Given the description of an element on the screen output the (x, y) to click on. 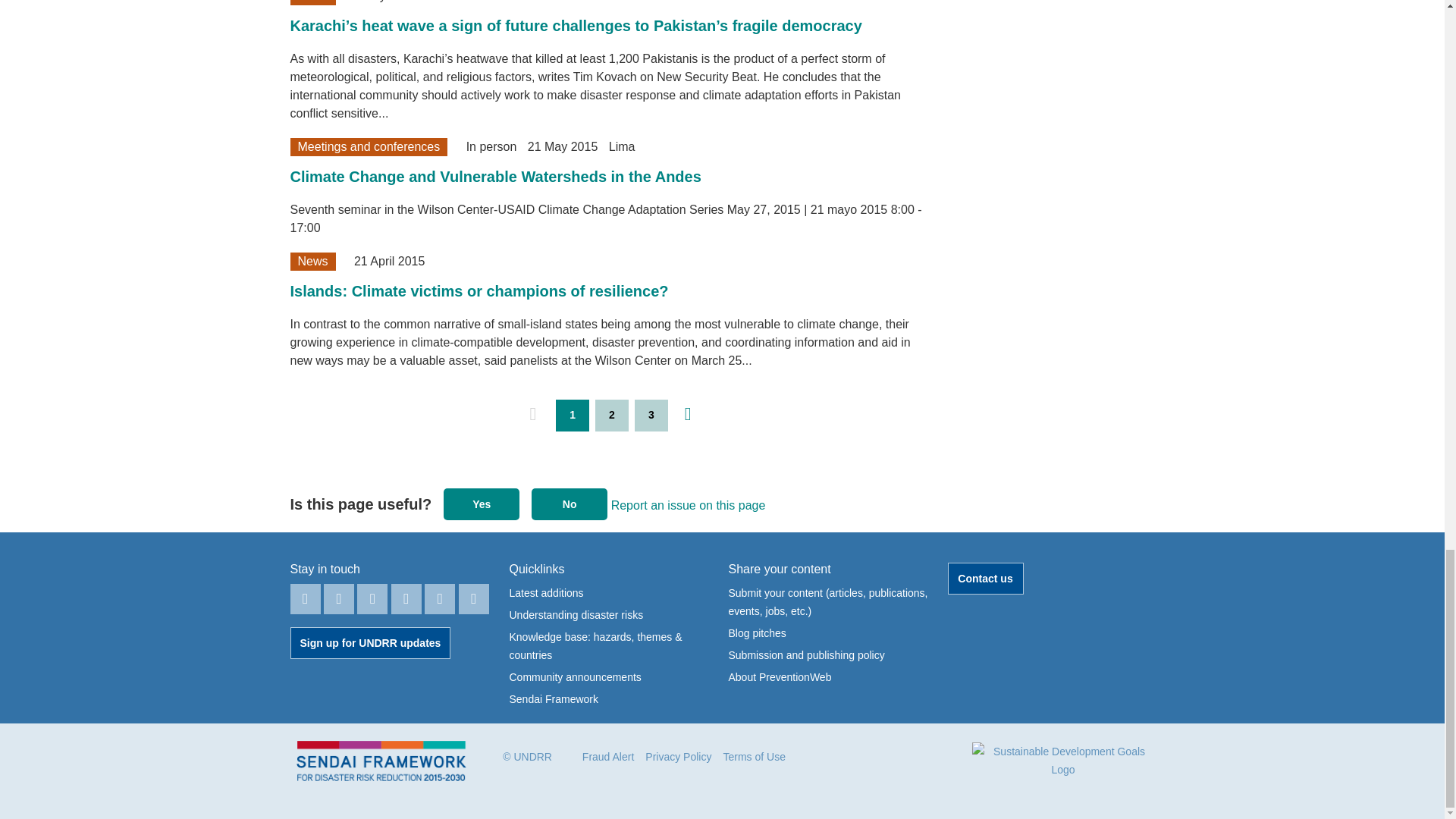
Go to page 2 (611, 415)
Go to next page (687, 414)
Current page (572, 415)
Meetings and conferences (367, 147)
Go to page 3 (651, 415)
